Given the description of an element on the screen output the (x, y) to click on. 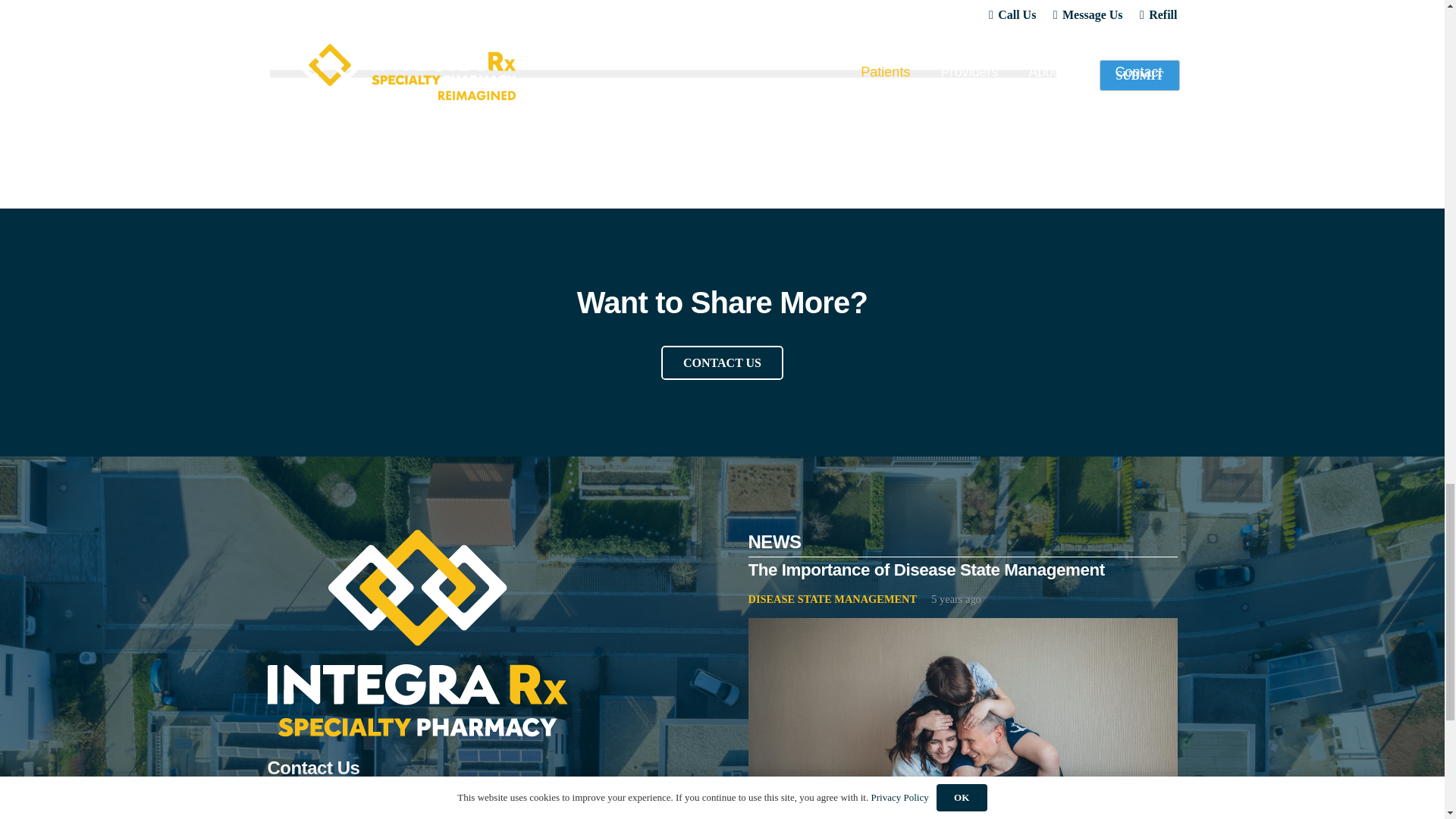
Contact Us (722, 362)
Contact Us (326, 808)
Contact Us (326, 808)
CONTACT US (722, 362)
Submit (1139, 74)
Contact Us (281, 808)
